Given the description of an element on the screen output the (x, y) to click on. 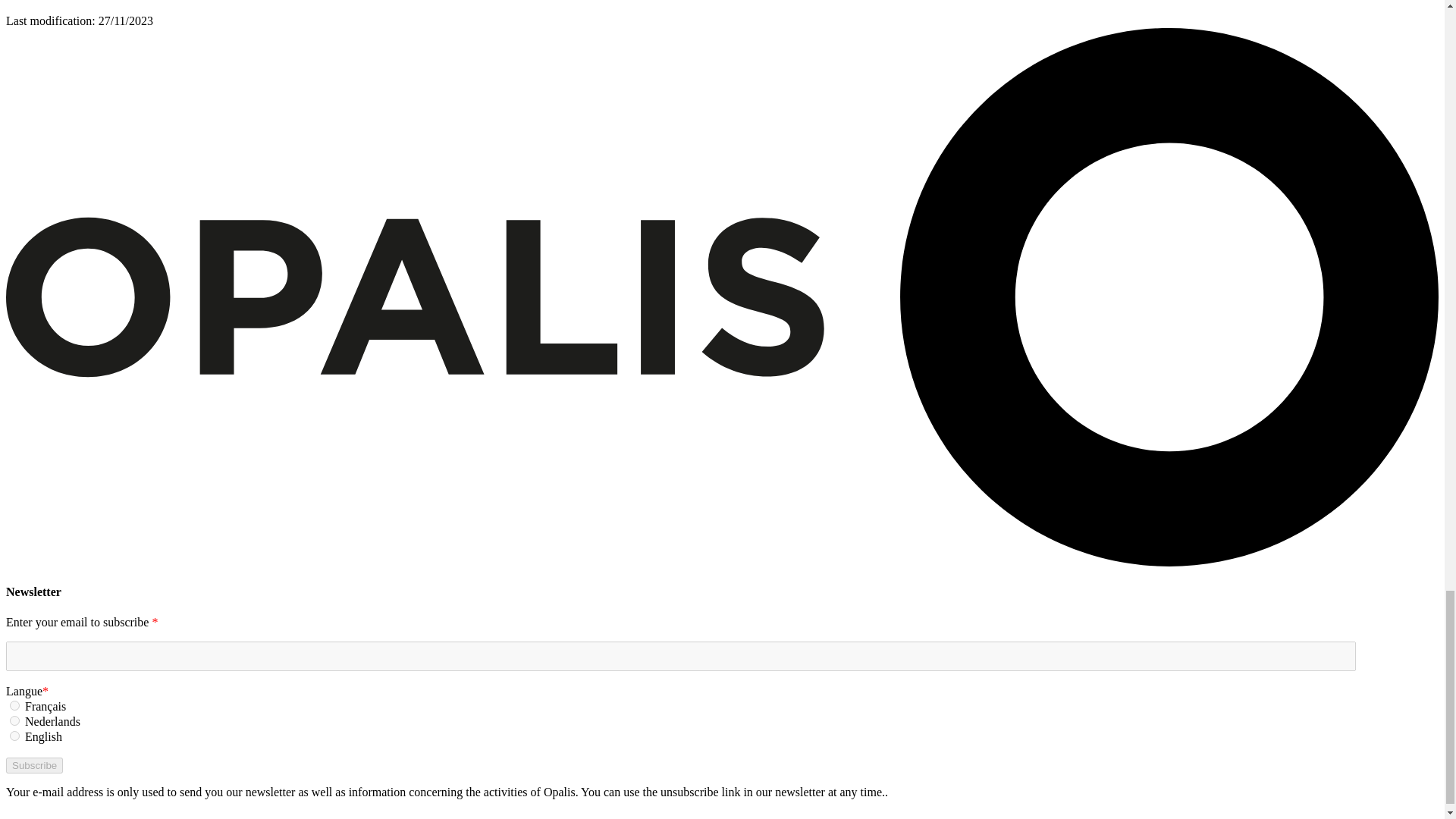
Subscribe (33, 765)
3 (15, 736)
1 (15, 705)
2 (15, 720)
